Given the description of an element on the screen output the (x, y) to click on. 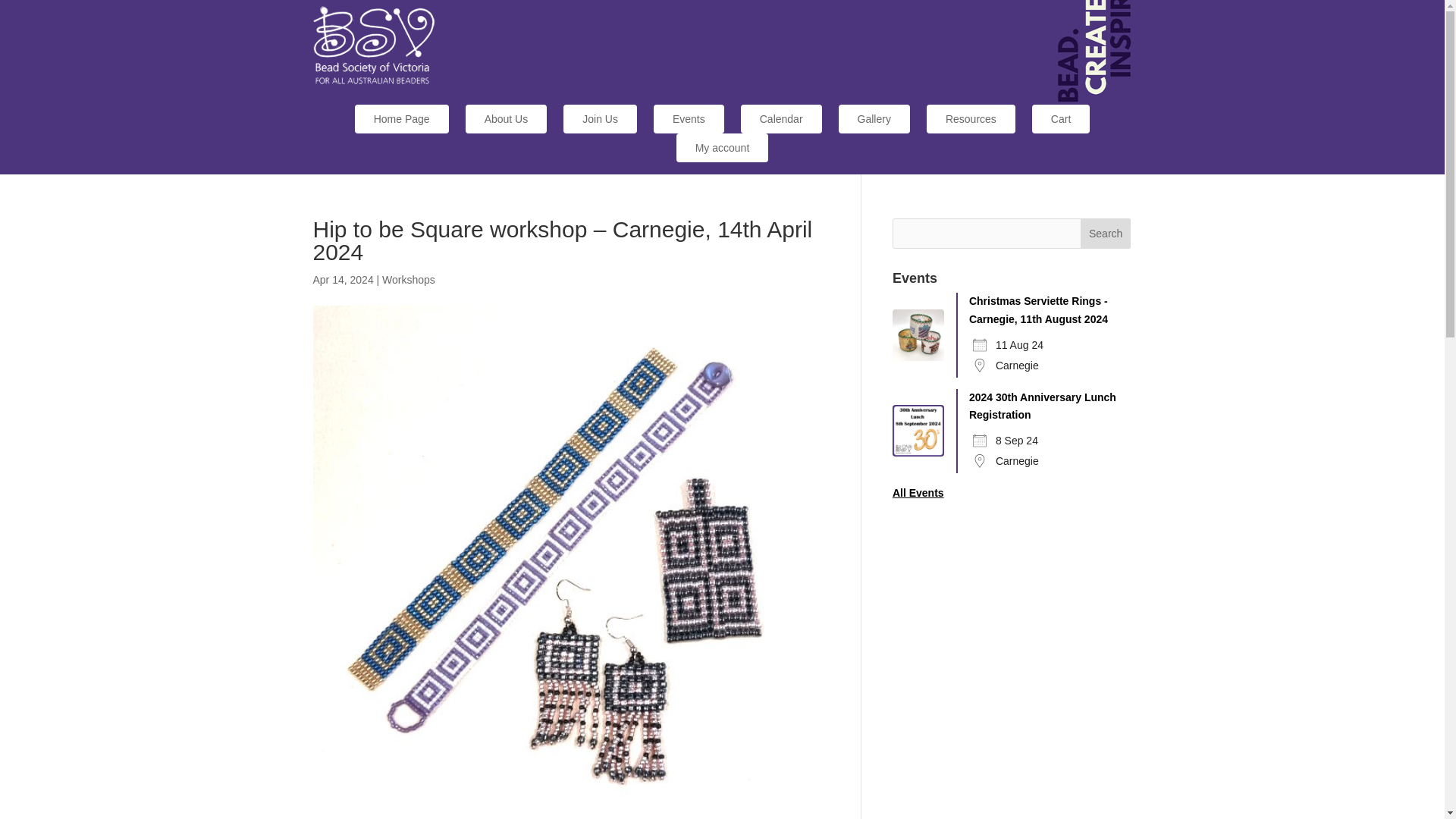
Cart (1060, 118)
View all posts in Workshops (408, 279)
About Us (506, 118)
all events (917, 492)
Resources (970, 118)
My account (722, 147)
Gallery (874, 118)
Calendar (781, 118)
Join Us (600, 118)
Events (688, 118)
Home Page (401, 118)
